Given the description of an element on the screen output the (x, y) to click on. 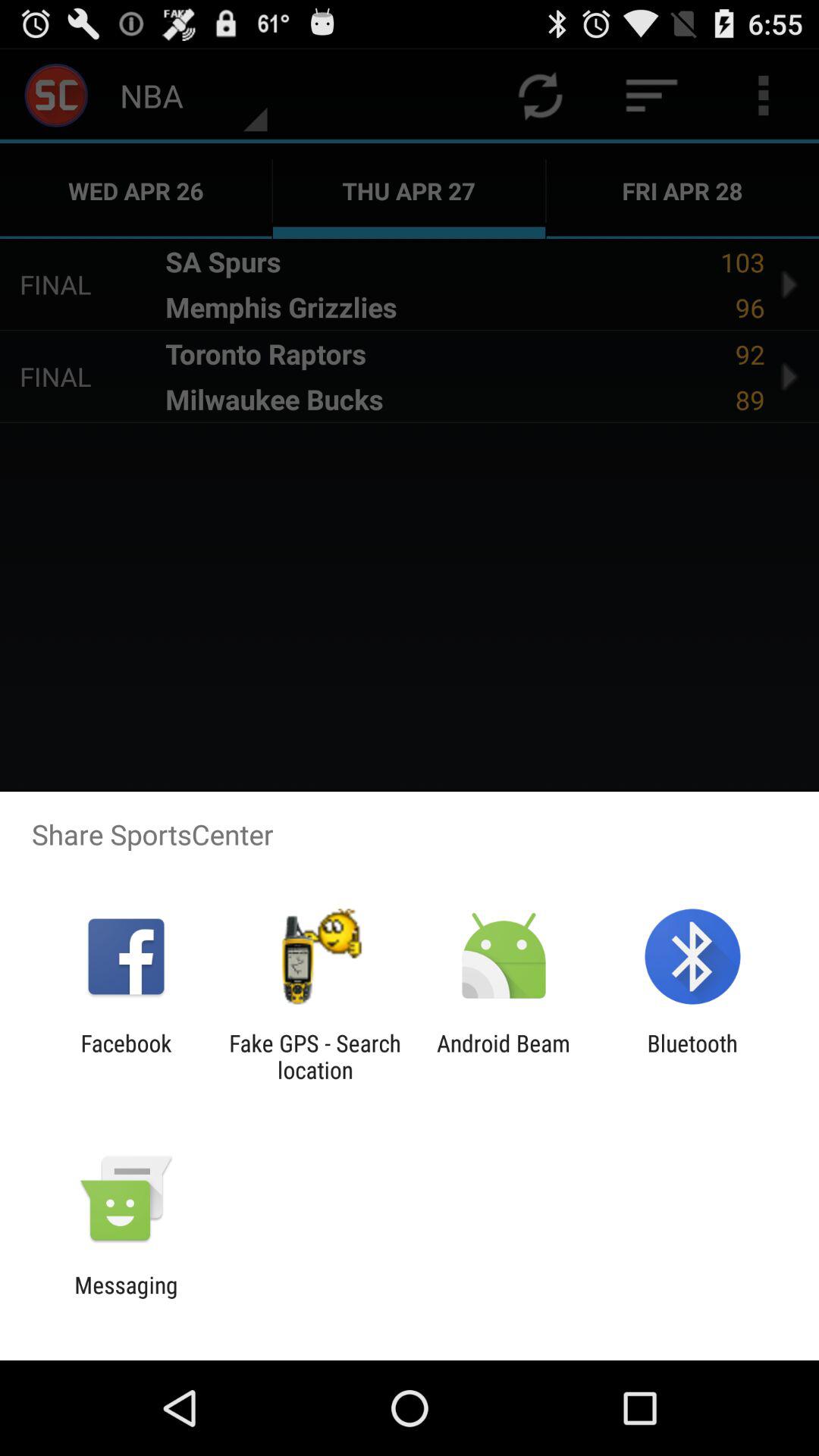
open the icon to the right of fake gps search app (503, 1056)
